Given the description of an element on the screen output the (x, y) to click on. 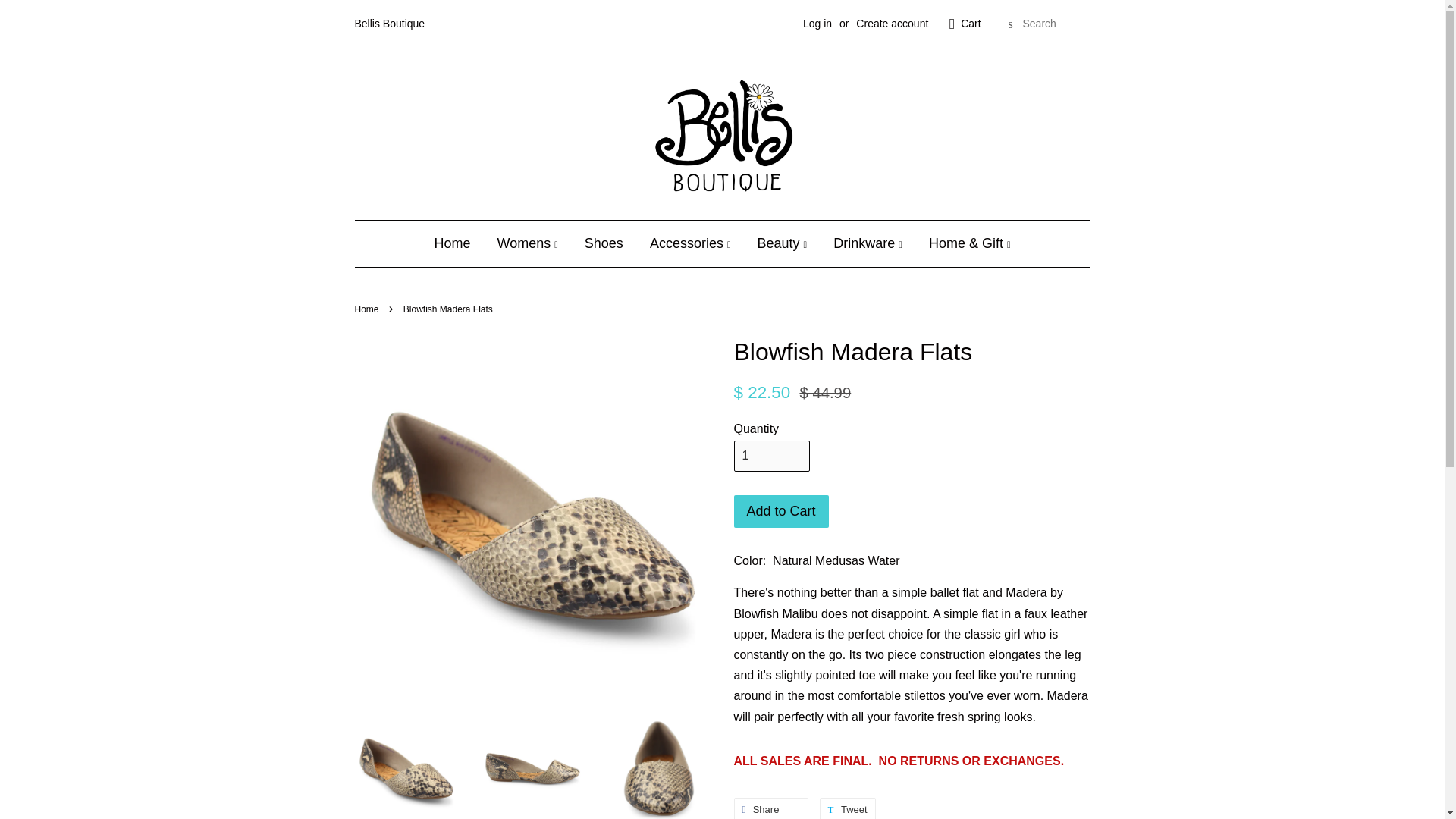
Search (1010, 24)
1 (771, 455)
Back to the frontpage (368, 308)
Create account (892, 23)
Log in (817, 23)
Cart (969, 24)
